Given the description of an element on the screen output the (x, y) to click on. 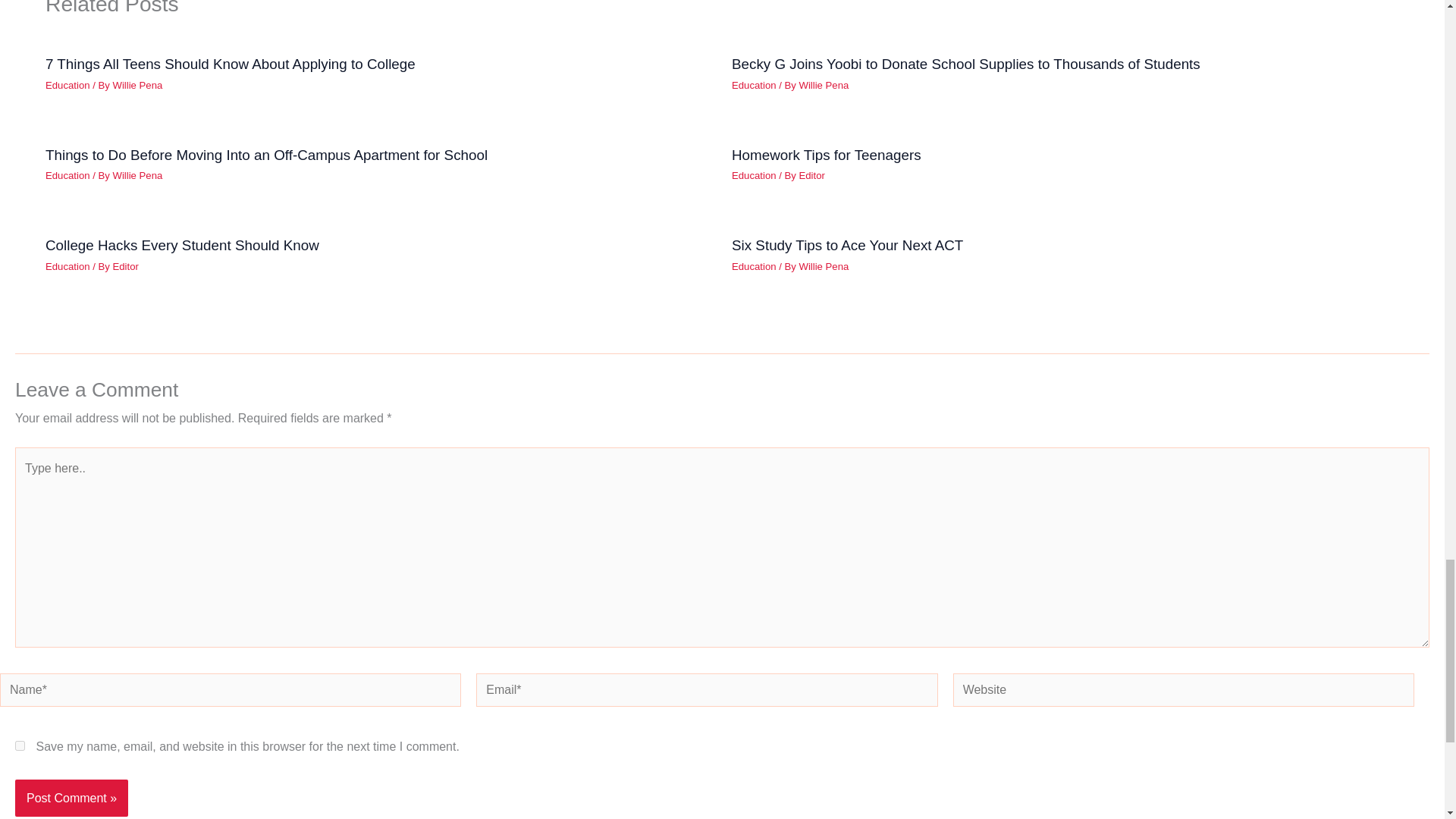
View all posts by Willie Pena (138, 84)
View all posts by Willie Pena (823, 266)
View all posts by Willie Pena (823, 84)
View all posts by Editor (125, 266)
View all posts by Editor (812, 174)
yes (19, 746)
View all posts by Willie Pena (138, 174)
